Given the description of an element on the screen output the (x, y) to click on. 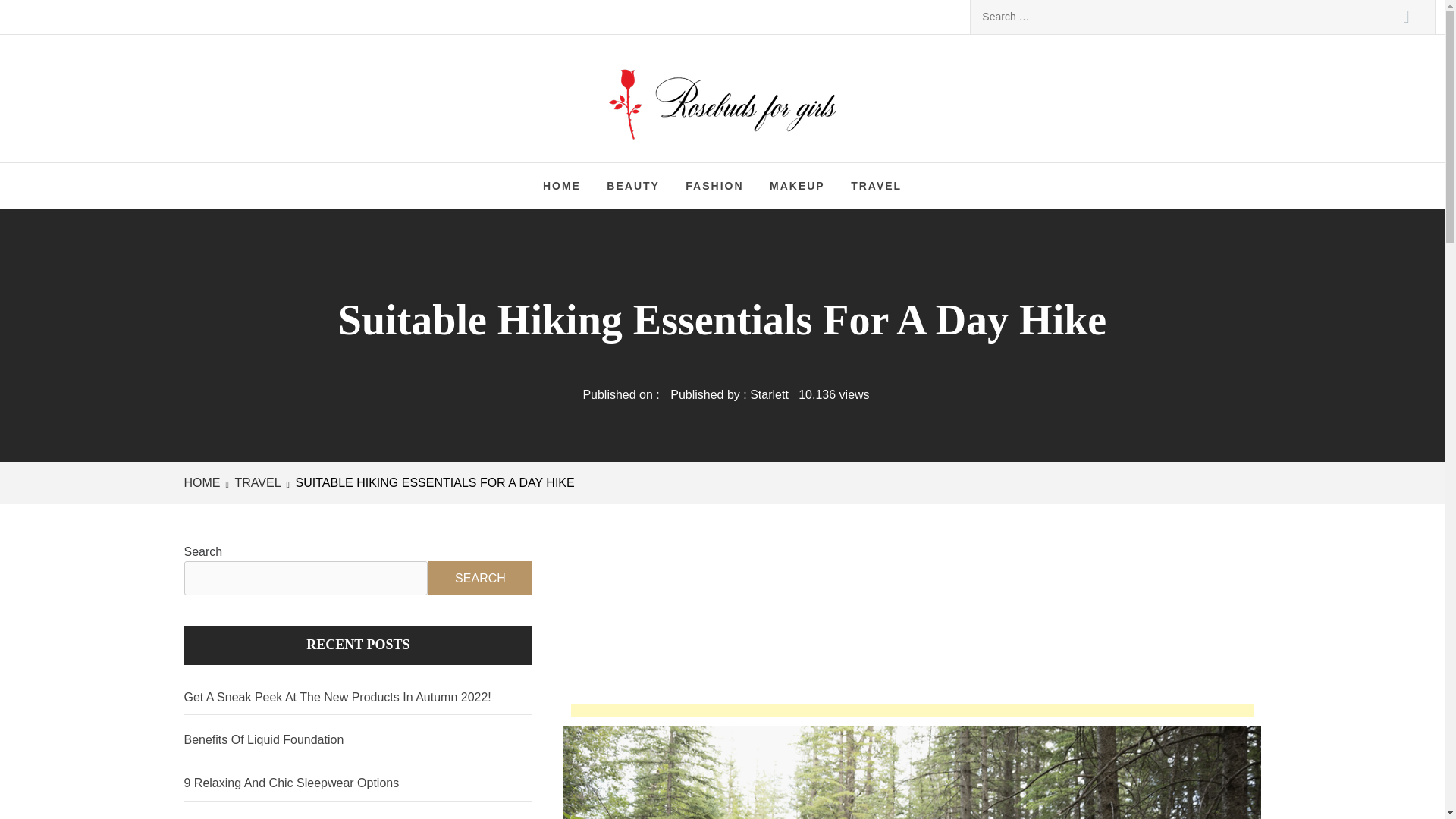
HOME (204, 481)
9 Relaxing And Chic Sleepwear Options (357, 783)
TRAVEL (876, 185)
Get A Sneak Peek At The New Products In Autumn 2022! (357, 697)
Benefits Of Liquid Foundation (357, 740)
SEARCH (480, 578)
MAKEUP (796, 185)
Tips For Eat Beauty (357, 814)
Search (1405, 17)
FASHION (714, 185)
HOME (561, 185)
SUITABLE HIKING ESSENTIALS FOR A DAY HIKE (432, 481)
Search (1405, 17)
TRAVEL (255, 481)
BEAUTY (633, 185)
